Given the description of an element on the screen output the (x, y) to click on. 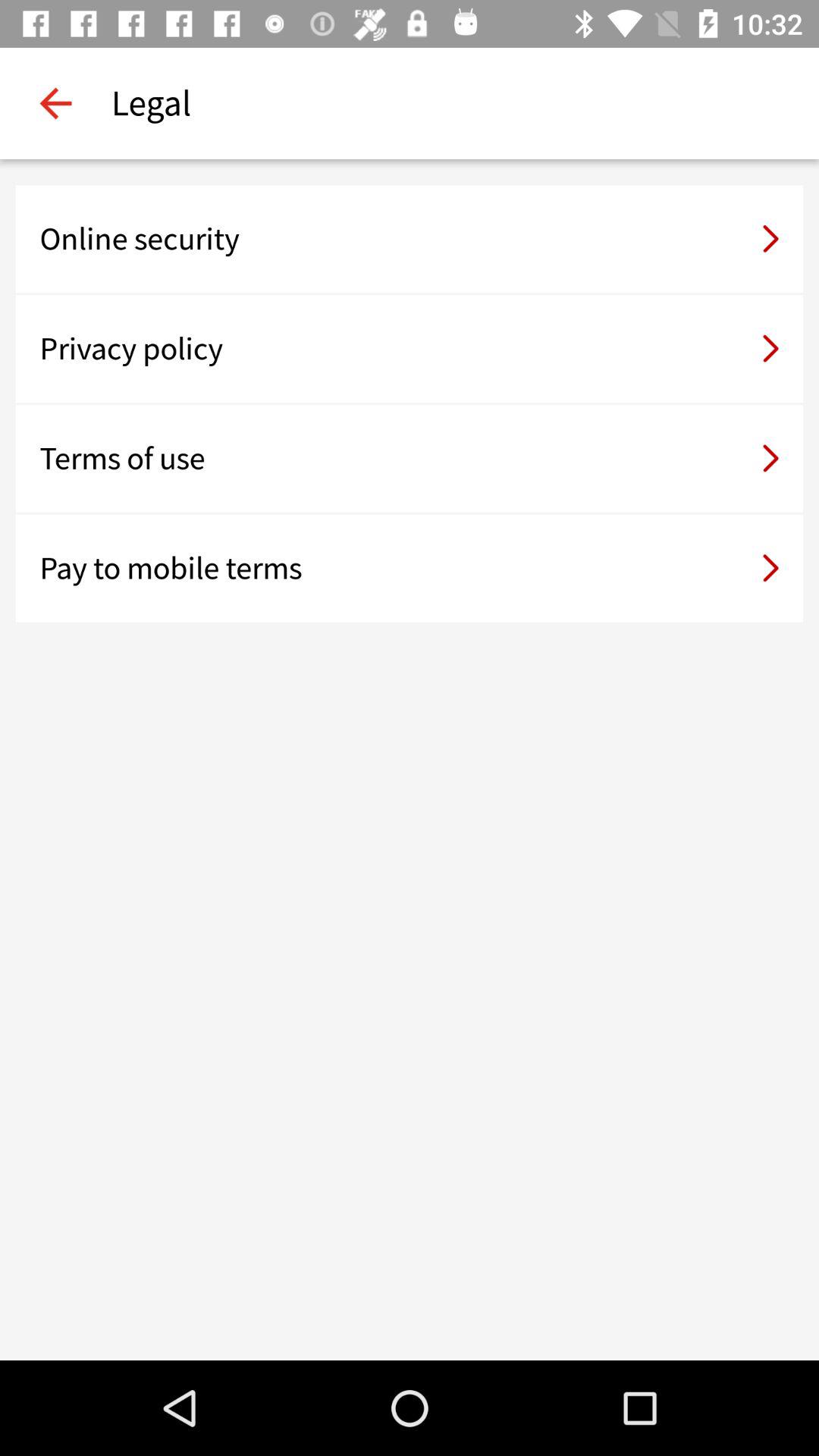
turn off the online security (409, 238)
